Given the description of an element on the screen output the (x, y) to click on. 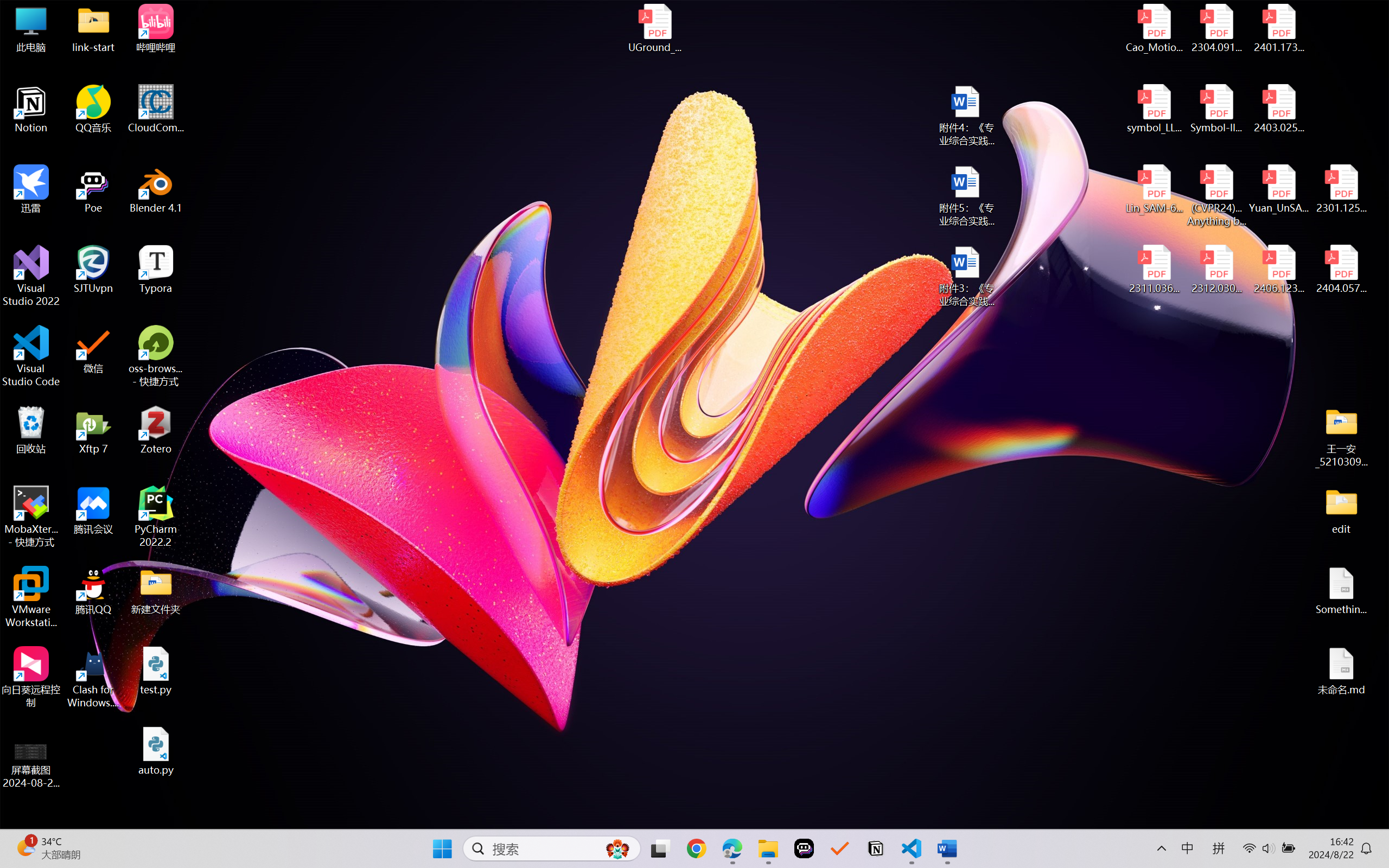
CloudCompare (156, 109)
2311.03658v2.pdf (1154, 269)
Symbol-llm-v2.pdf (1216, 109)
auto.py (156, 751)
